Given the description of an element on the screen output the (x, y) to click on. 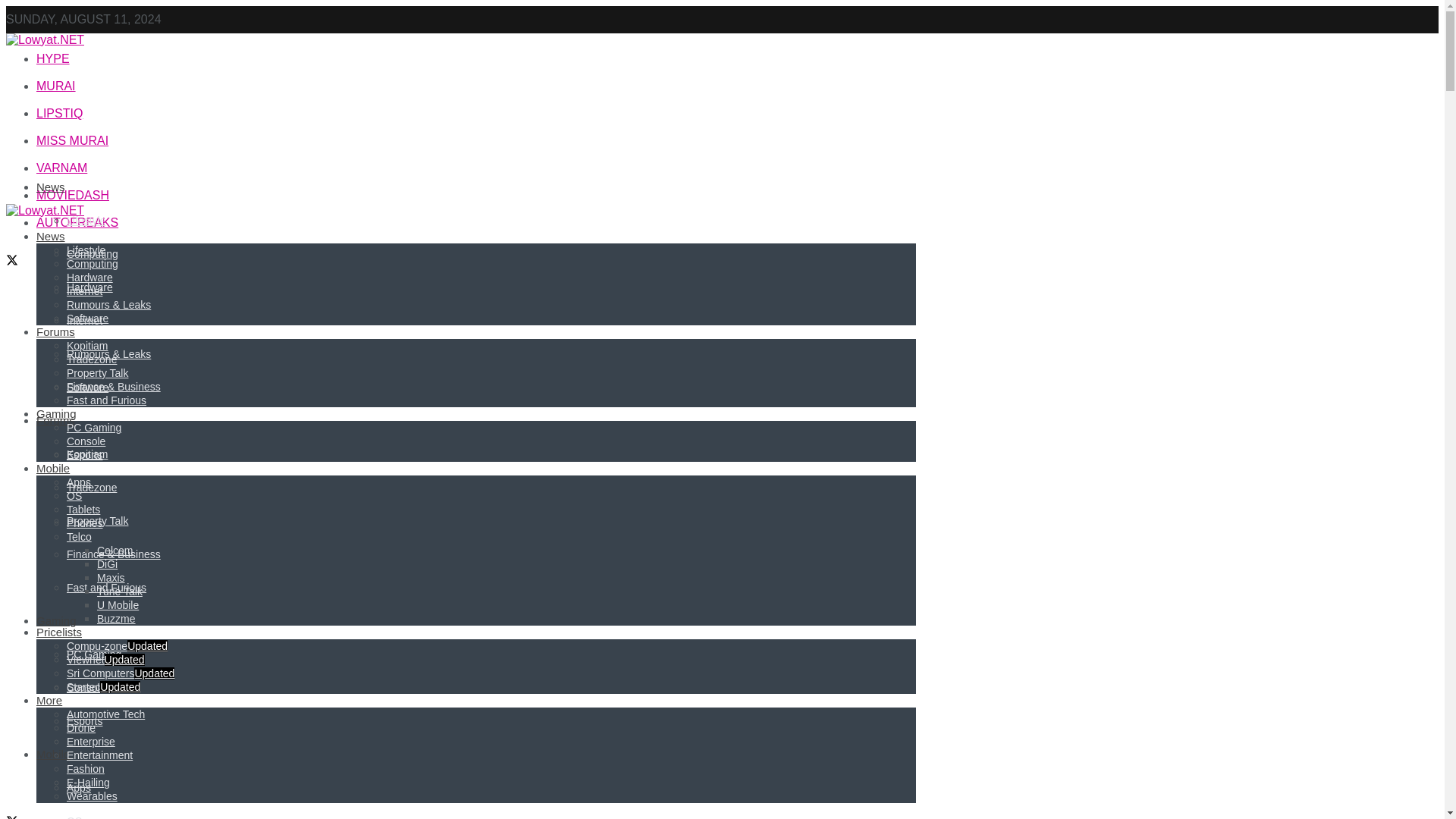
Software (86, 387)
VARNAM (61, 167)
Apps (78, 787)
Kopitiam (86, 453)
OS (73, 816)
Mobile (52, 753)
Esports (83, 720)
Hardware (89, 287)
Lifestyle (85, 220)
Gaming (56, 620)
